Given the description of an element on the screen output the (x, y) to click on. 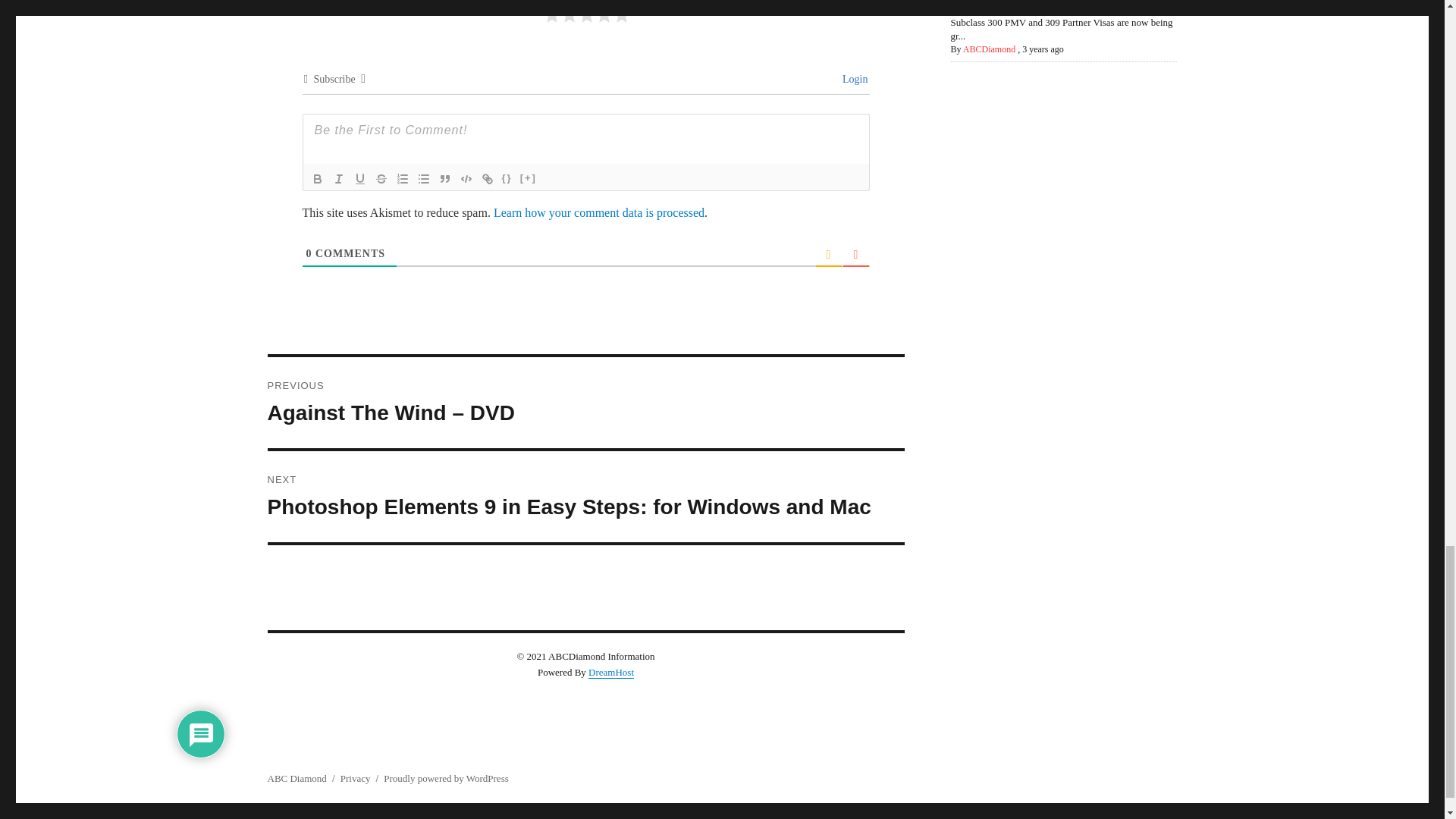
Code Block (465, 178)
Bold (316, 178)
Ordered List (401, 178)
Unordered List (422, 178)
Strike (380, 178)
Underline (359, 178)
Italic (338, 178)
Blockquote (443, 178)
Link (486, 178)
Source Code (506, 178)
